Given the description of an element on the screen output the (x, y) to click on. 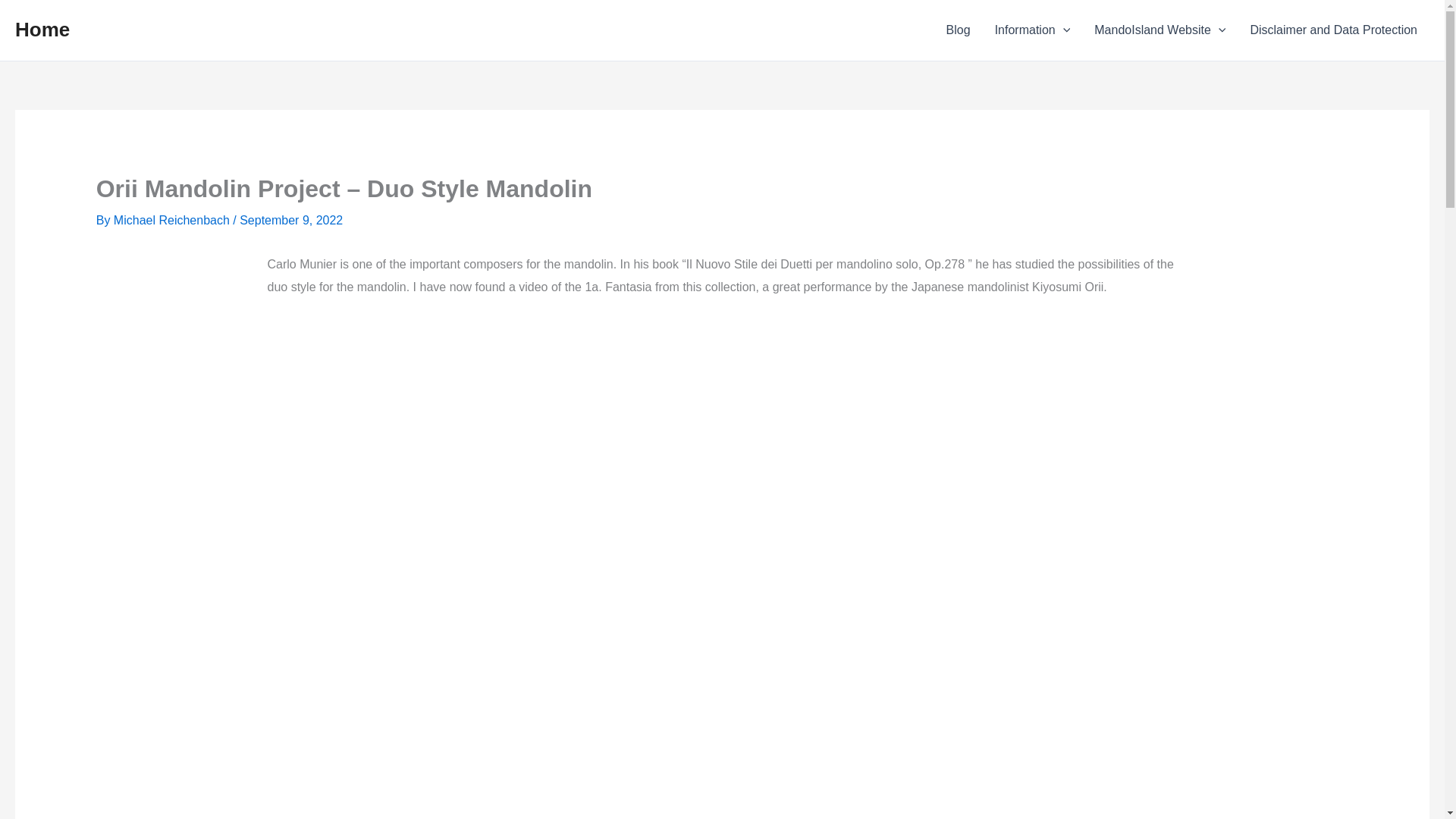
Information (1032, 30)
MandoIsland Website (1159, 30)
Disclaimer and Data Protection (1333, 30)
View all posts by Michael Reichenbach (172, 219)
Home (41, 29)
